Given the description of an element on the screen output the (x, y) to click on. 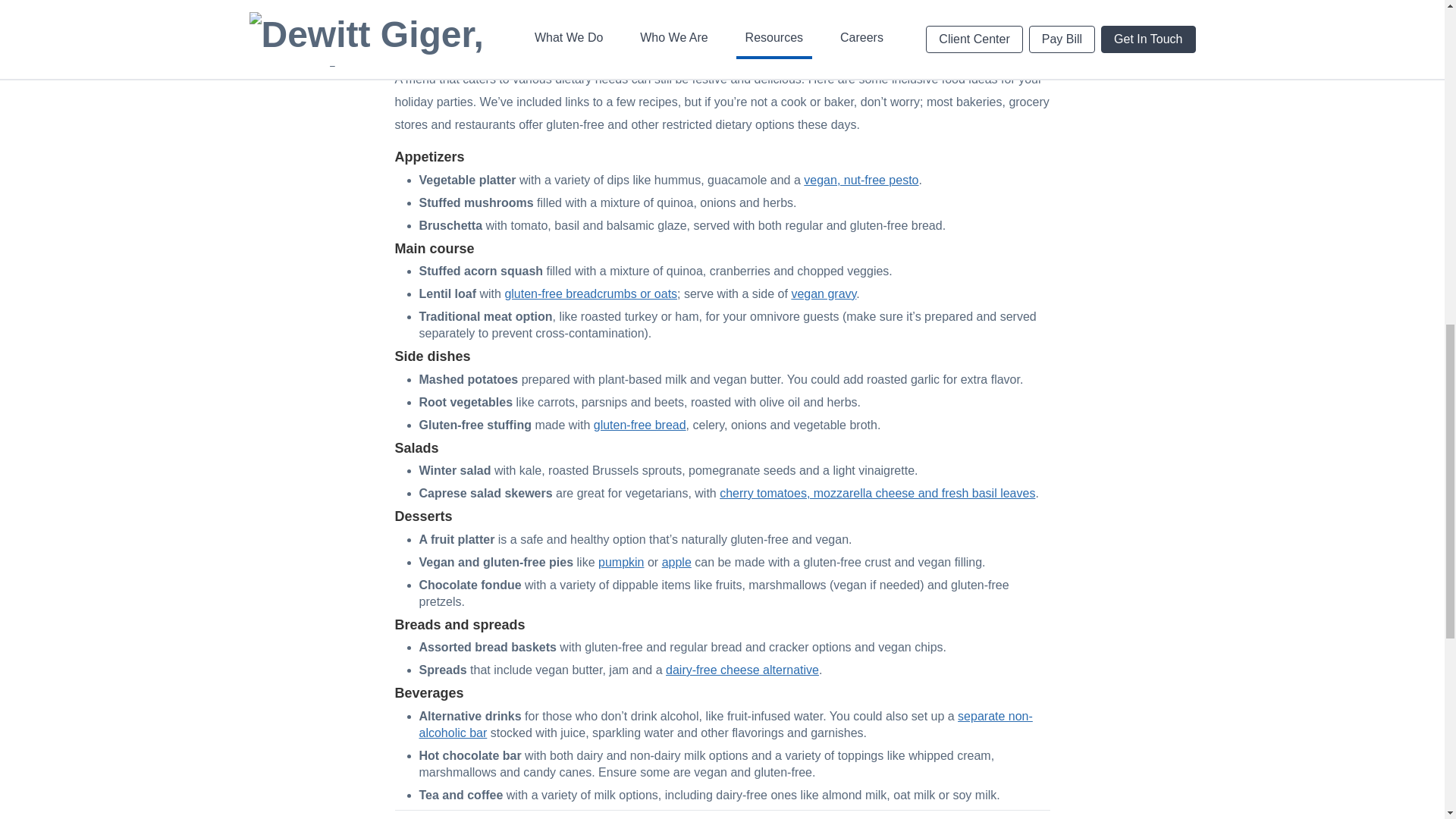
vegan, nut-free pesto (860, 178)
gluten-free breadcrumbs or oats (590, 293)
